Given the description of an element on the screen output the (x, y) to click on. 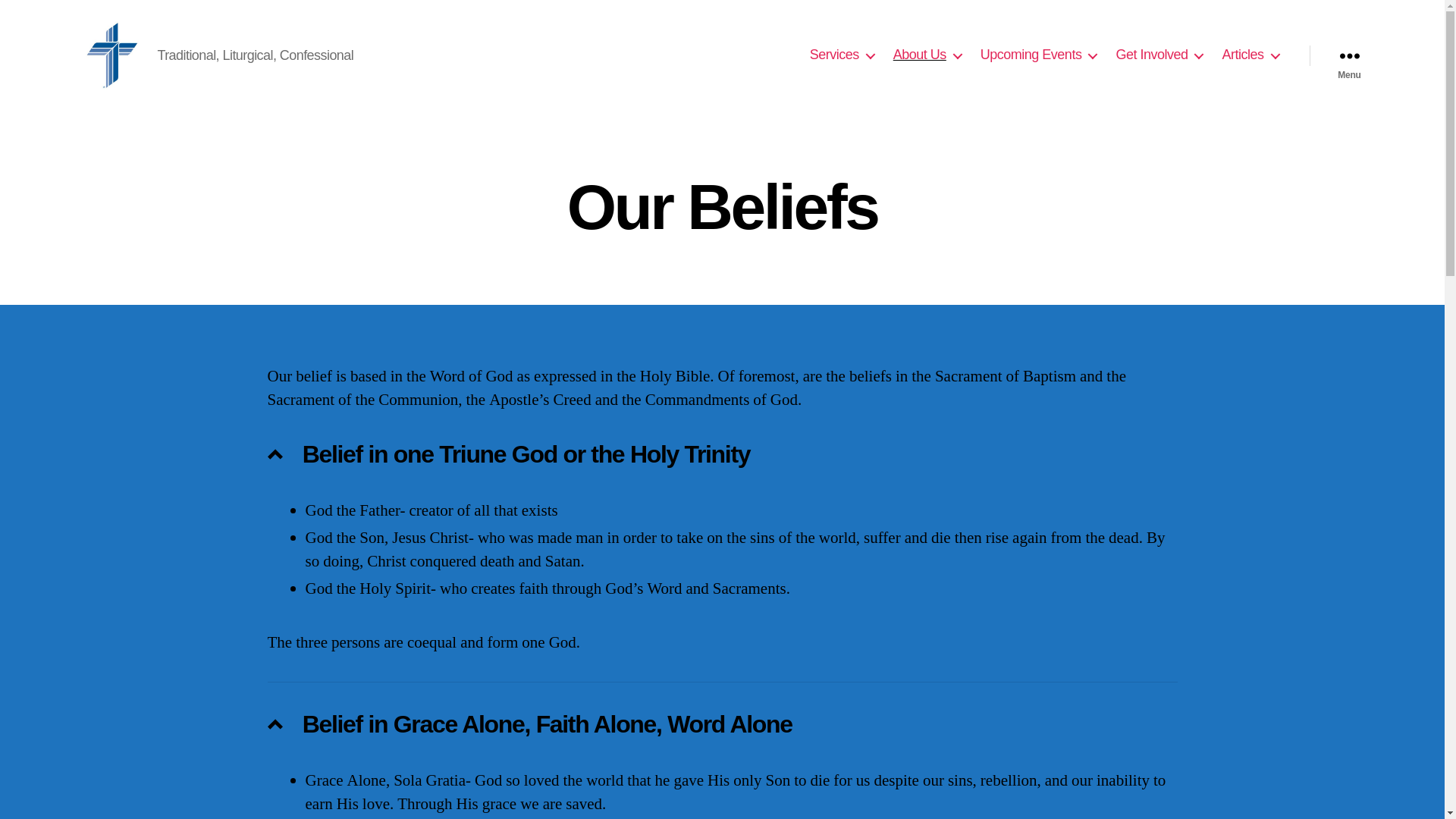
Menu (1348, 55)
Articles (1249, 54)
Upcoming Events (1038, 54)
Services (842, 54)
Get Involved (1158, 54)
About Us (926, 54)
